Given the description of an element on the screen output the (x, y) to click on. 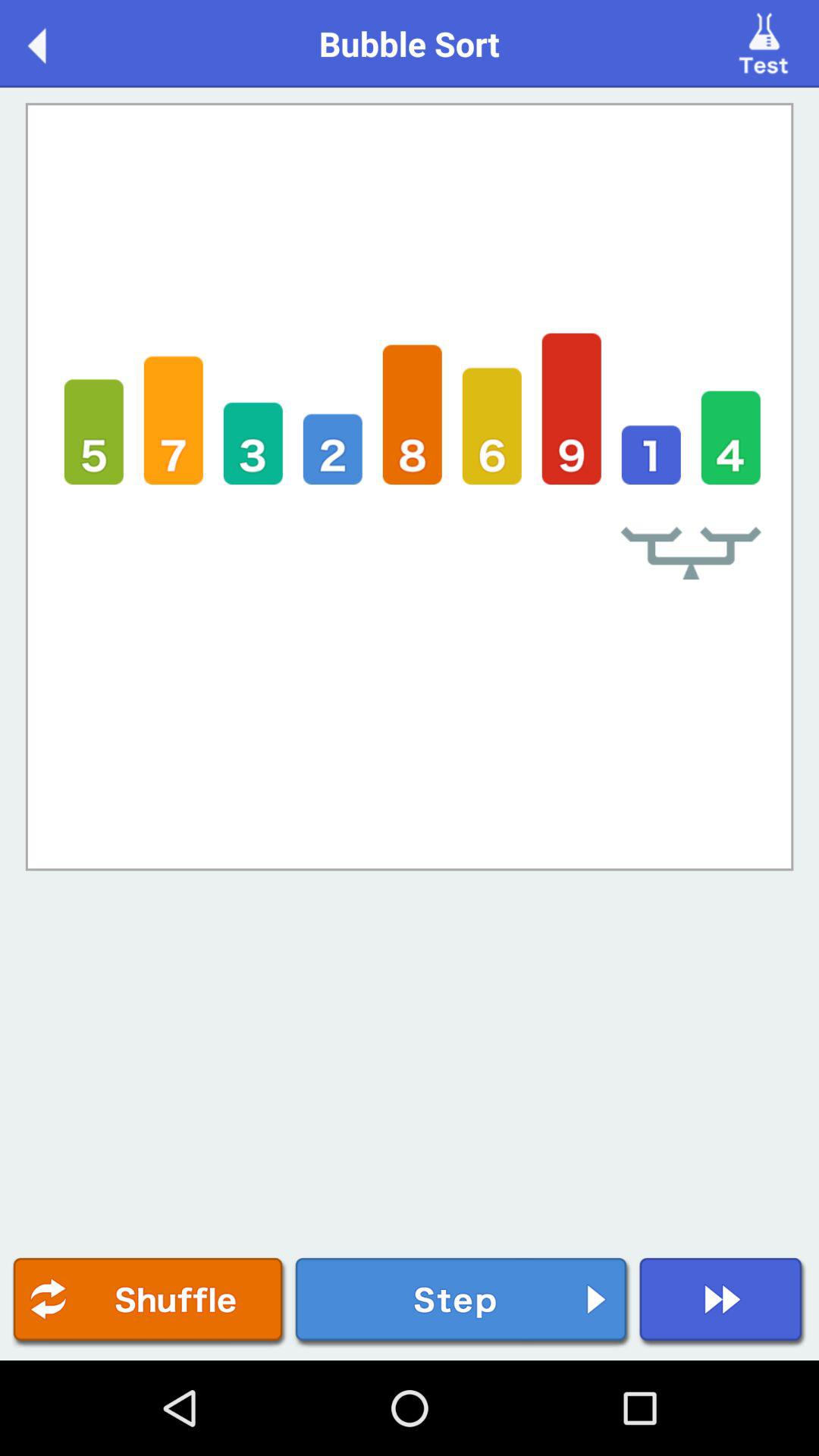
choose icon to the left of the bubble sort (52, 42)
